Given the description of an element on the screen output the (x, y) to click on. 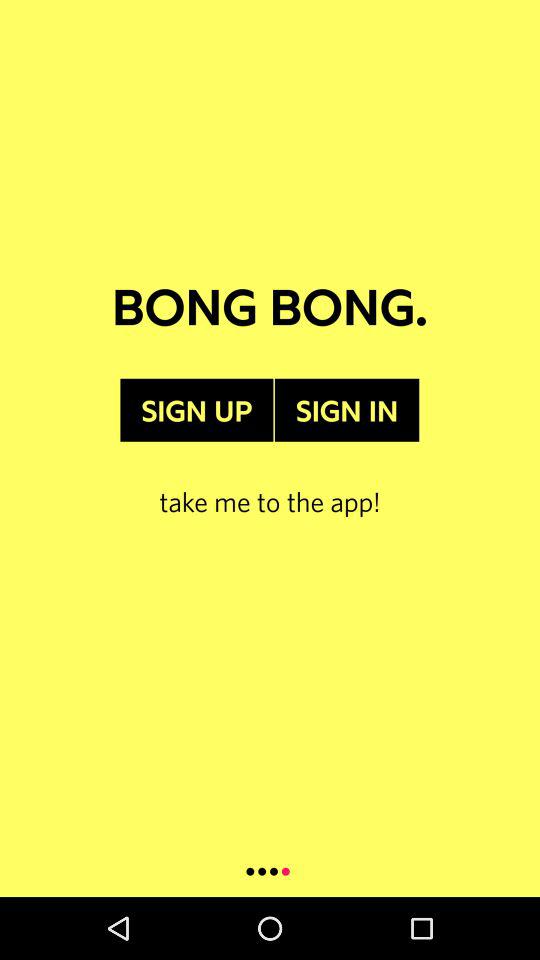
turn on sign in icon (346, 409)
